Given the description of an element on the screen output the (x, y) to click on. 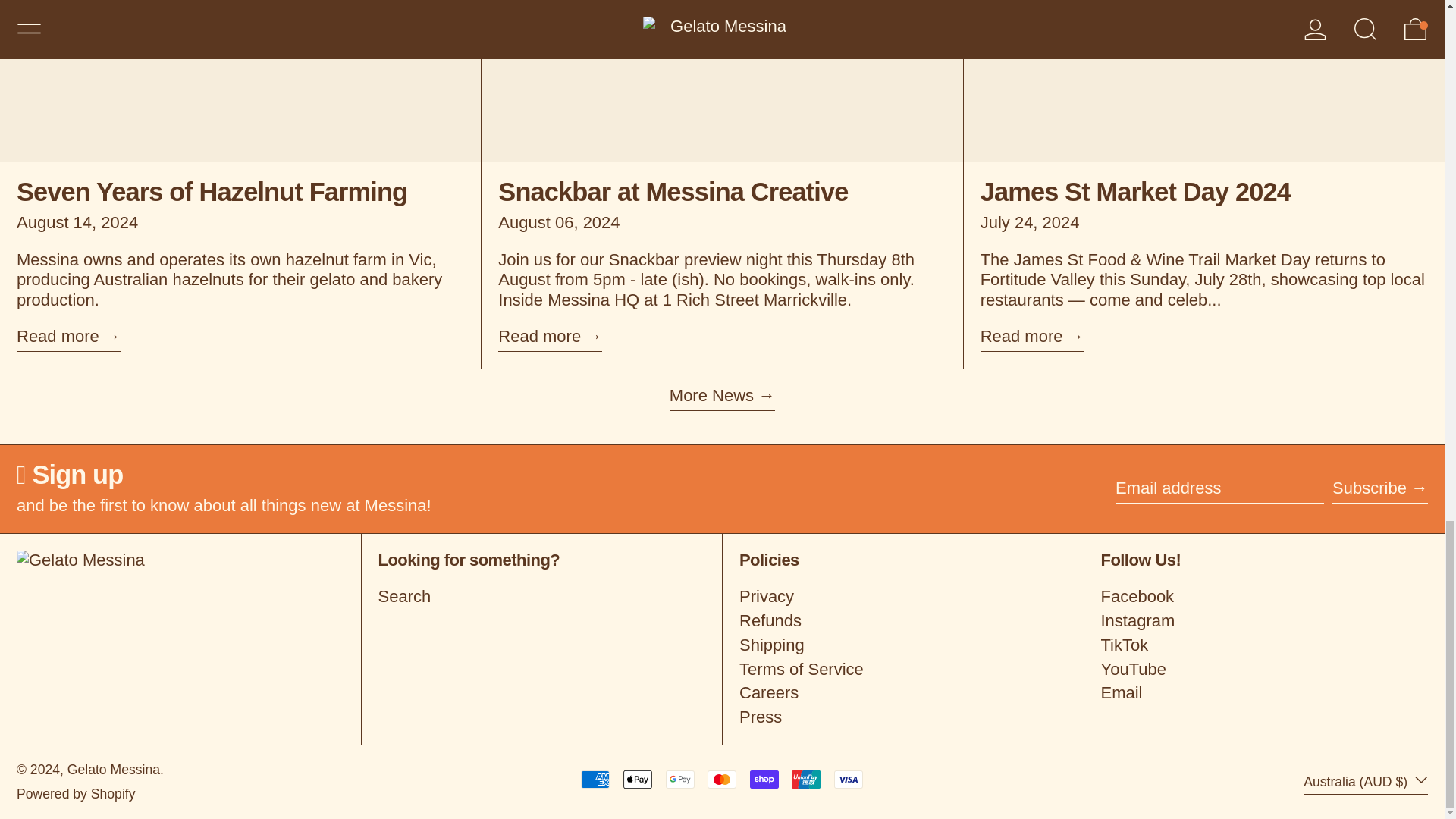
TikTok (1124, 645)
Shipping (772, 644)
Search (403, 596)
Terms of Service (801, 669)
Refunds (770, 619)
Instagram (1137, 620)
More News (721, 398)
Press (760, 716)
Careers (768, 692)
